Given the description of an element on the screen output the (x, y) to click on. 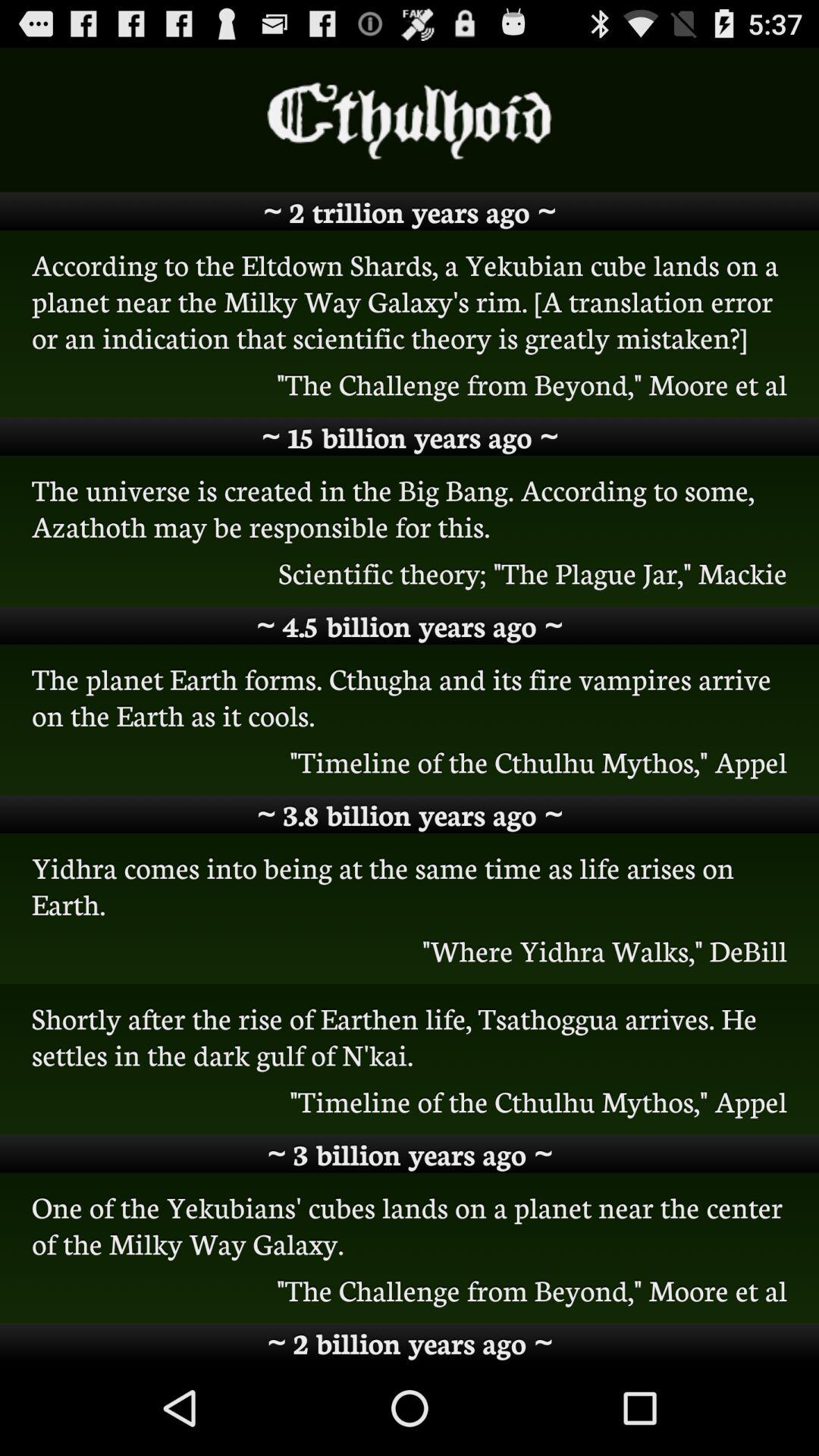
jump until the shortly after the (409, 1035)
